Given the description of an element on the screen output the (x, y) to click on. 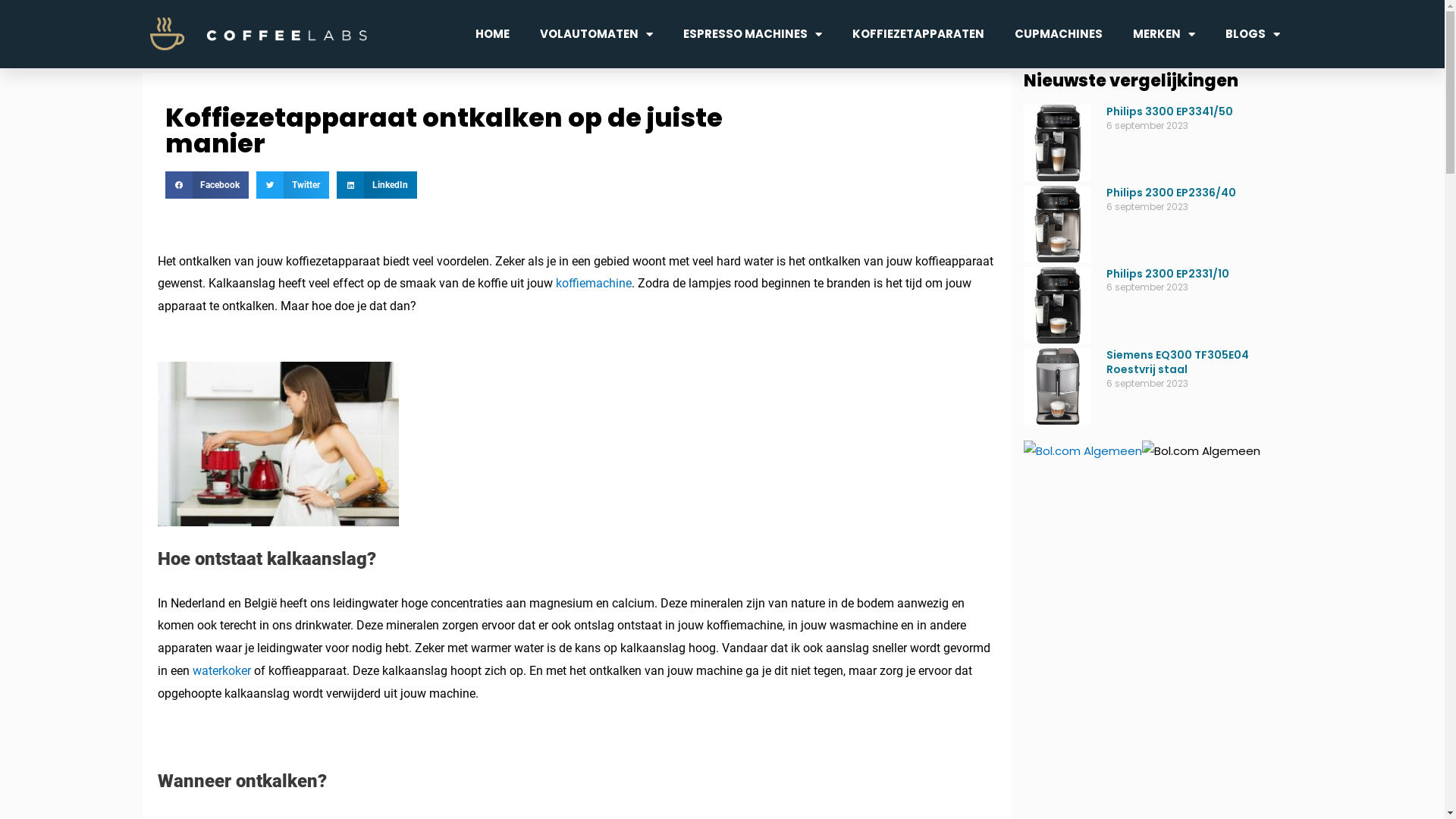
CUPMACHINES Element type: text (1058, 33)
HOME Element type: text (491, 33)
BLOGS Element type: text (1252, 33)
Philips 2300 EP2331/10 Element type: text (1167, 273)
KOFFIEZETAPPARATEN Element type: text (918, 33)
MERKEN Element type: text (1163, 33)
koffiemachine Element type: text (592, 283)
ESPRESSO MACHINES Element type: text (751, 33)
waterkoker Element type: text (221, 670)
Siemens EQ300 TF305E04 Roestvrij staal Element type: text (1177, 362)
Philips 2300 EP2336/40 Element type: text (1171, 192)
VOLAUTOMATEN Element type: text (596, 33)
Philips 3300 EP3341/50 Element type: text (1169, 111)
